Given the description of an element on the screen output the (x, y) to click on. 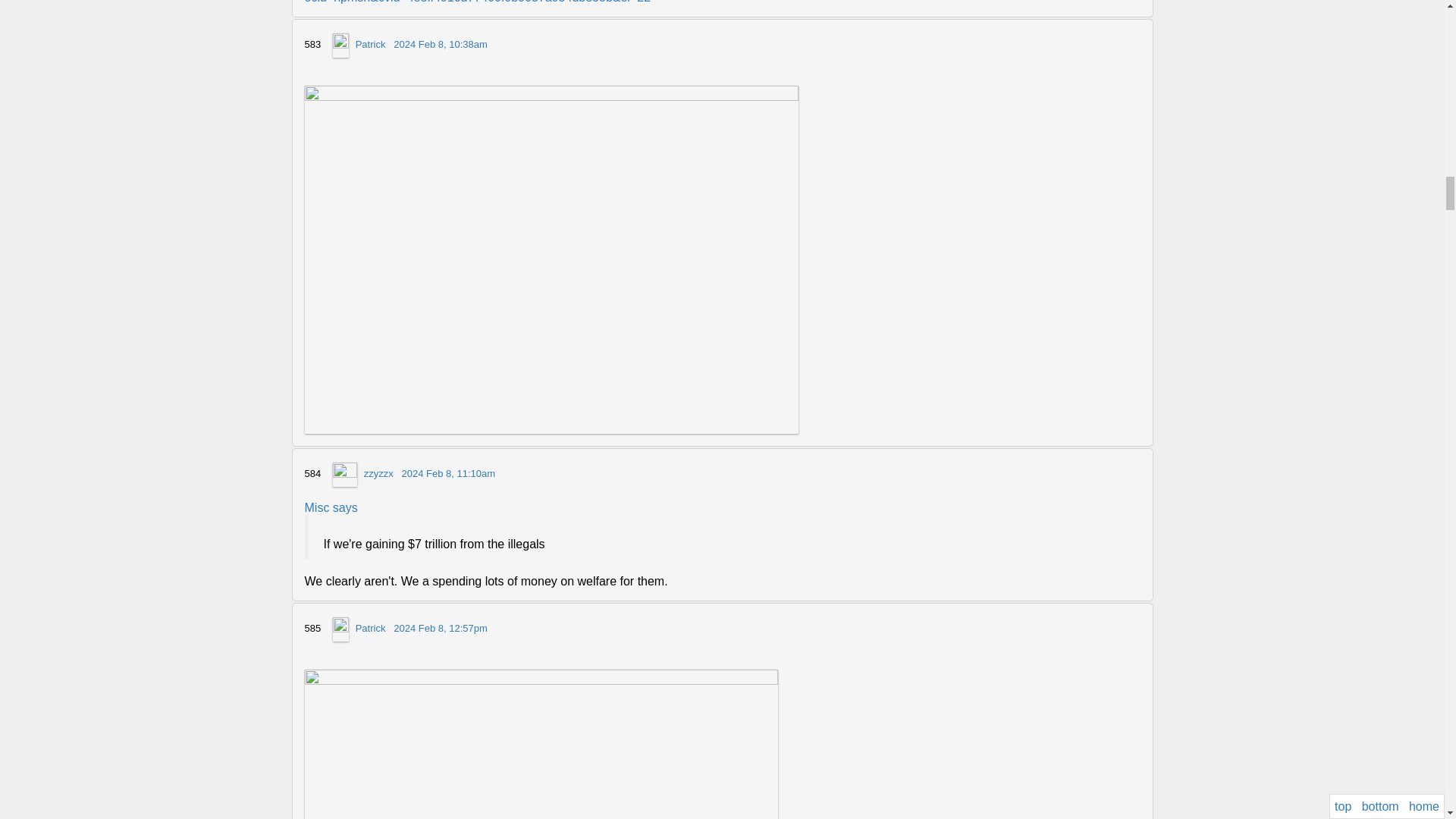
permalink to this comment (440, 43)
